Given the description of an element on the screen output the (x, y) to click on. 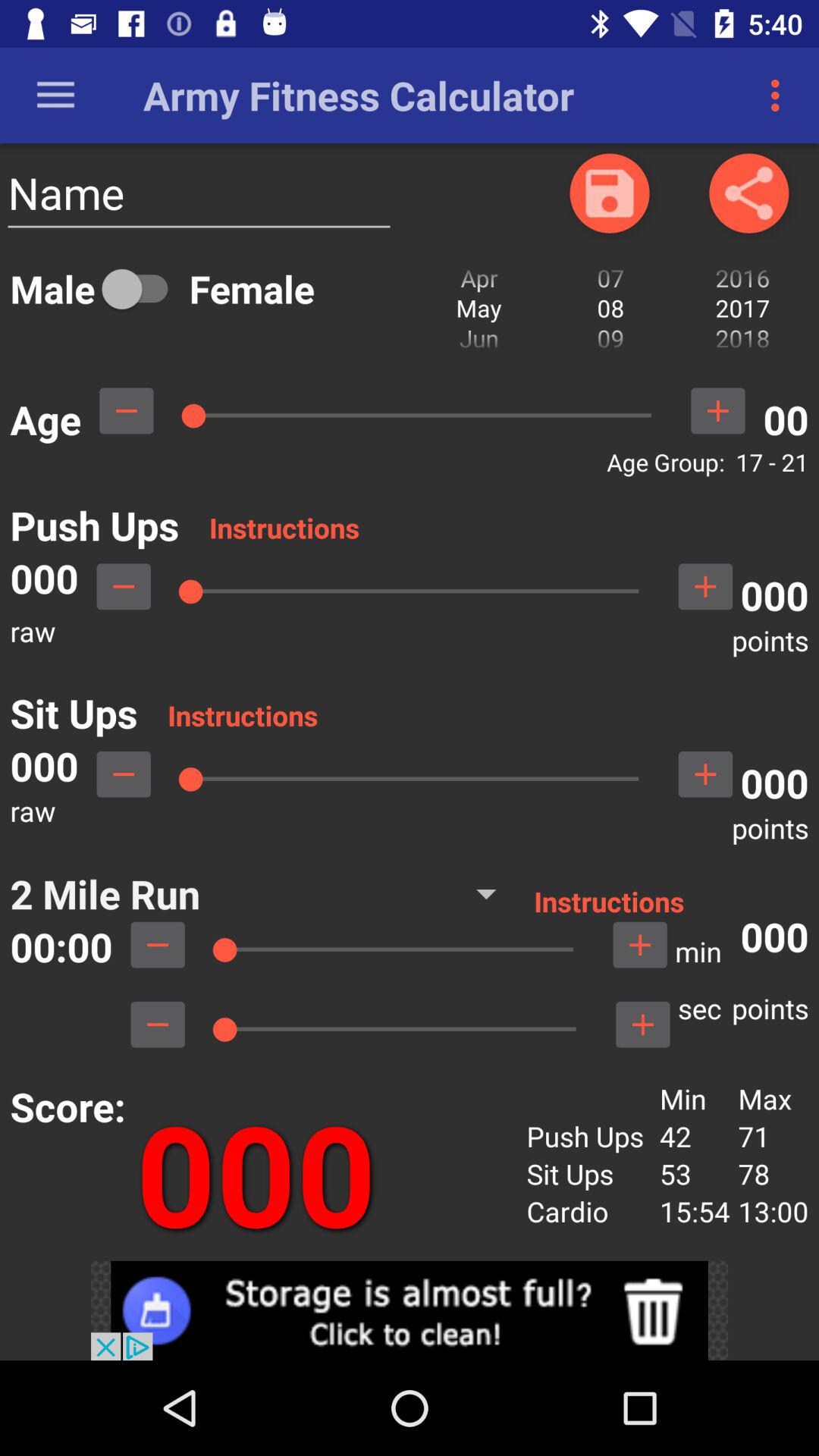
reduce point option (123, 586)
